Given the description of an element on the screen output the (x, y) to click on. 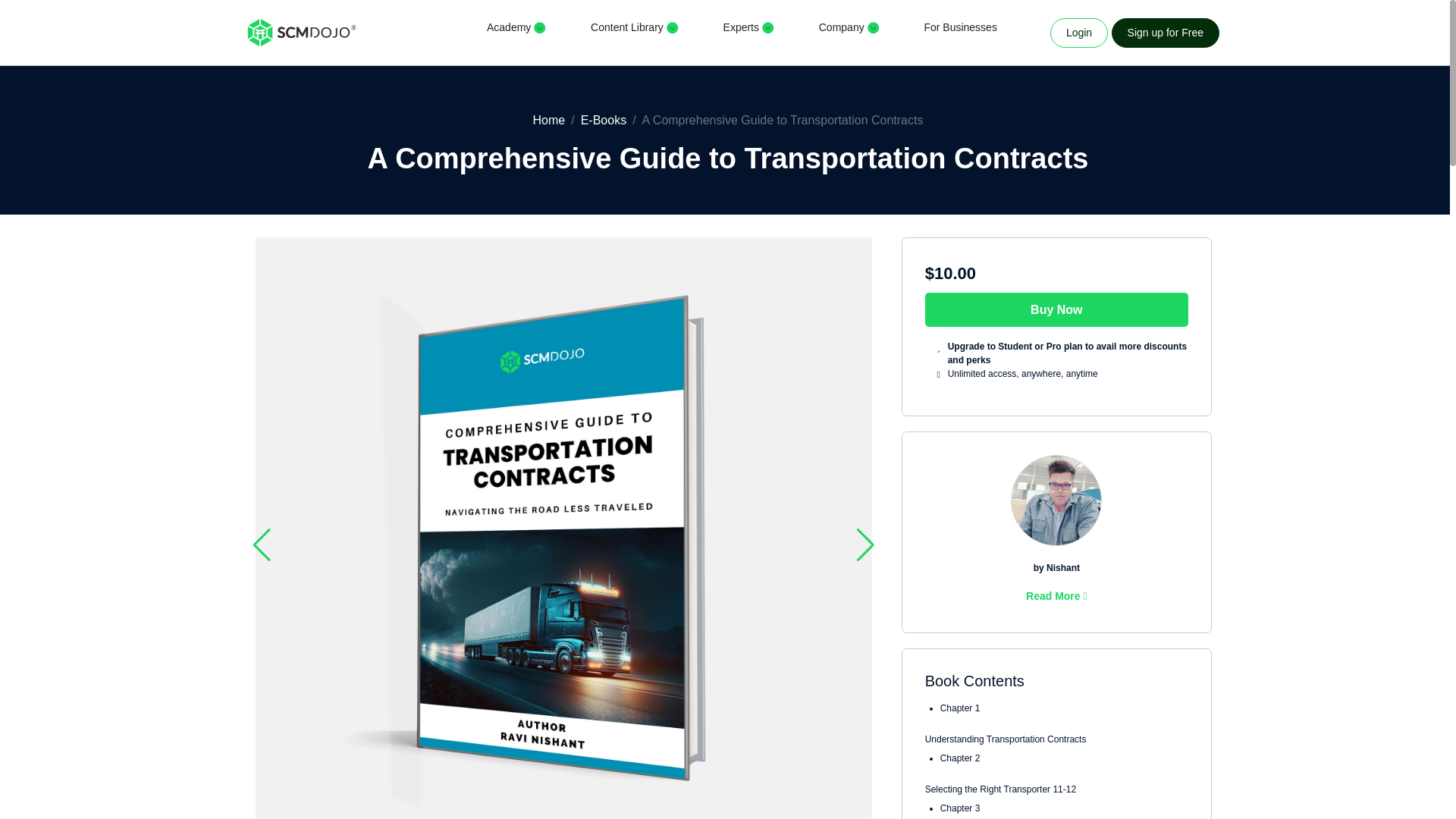
Content Library (642, 32)
Academy (523, 32)
Experts (756, 32)
